Given the description of an element on the screen output the (x, y) to click on. 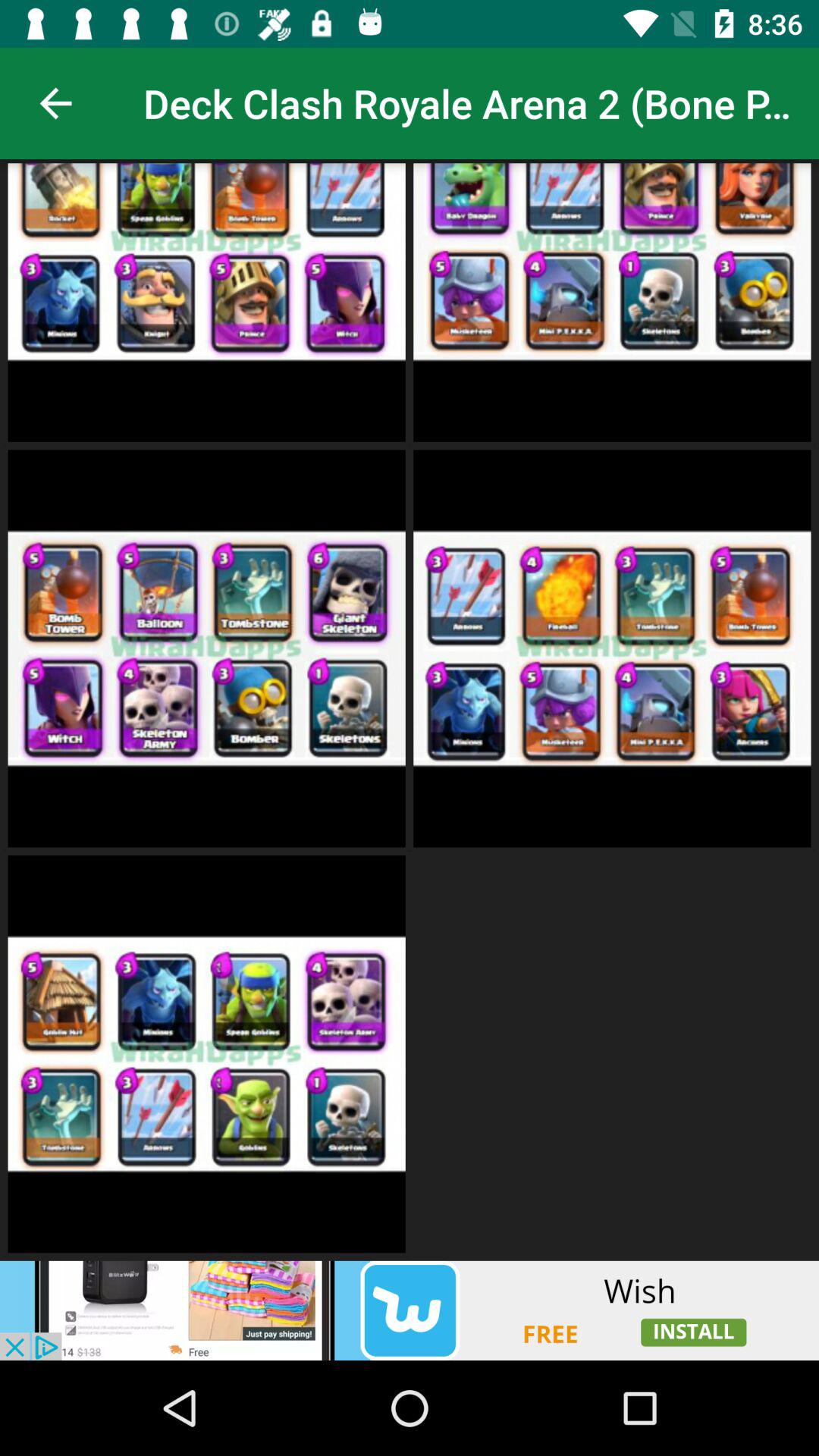
select the left side images below the text which says deck clash royale arena 2 bone p (206, 301)
click on the first image (206, 300)
select the second block from top right (612, 648)
select the second box in deck clash royale arena2 (612, 300)
